Given the description of an element on the screen output the (x, y) to click on. 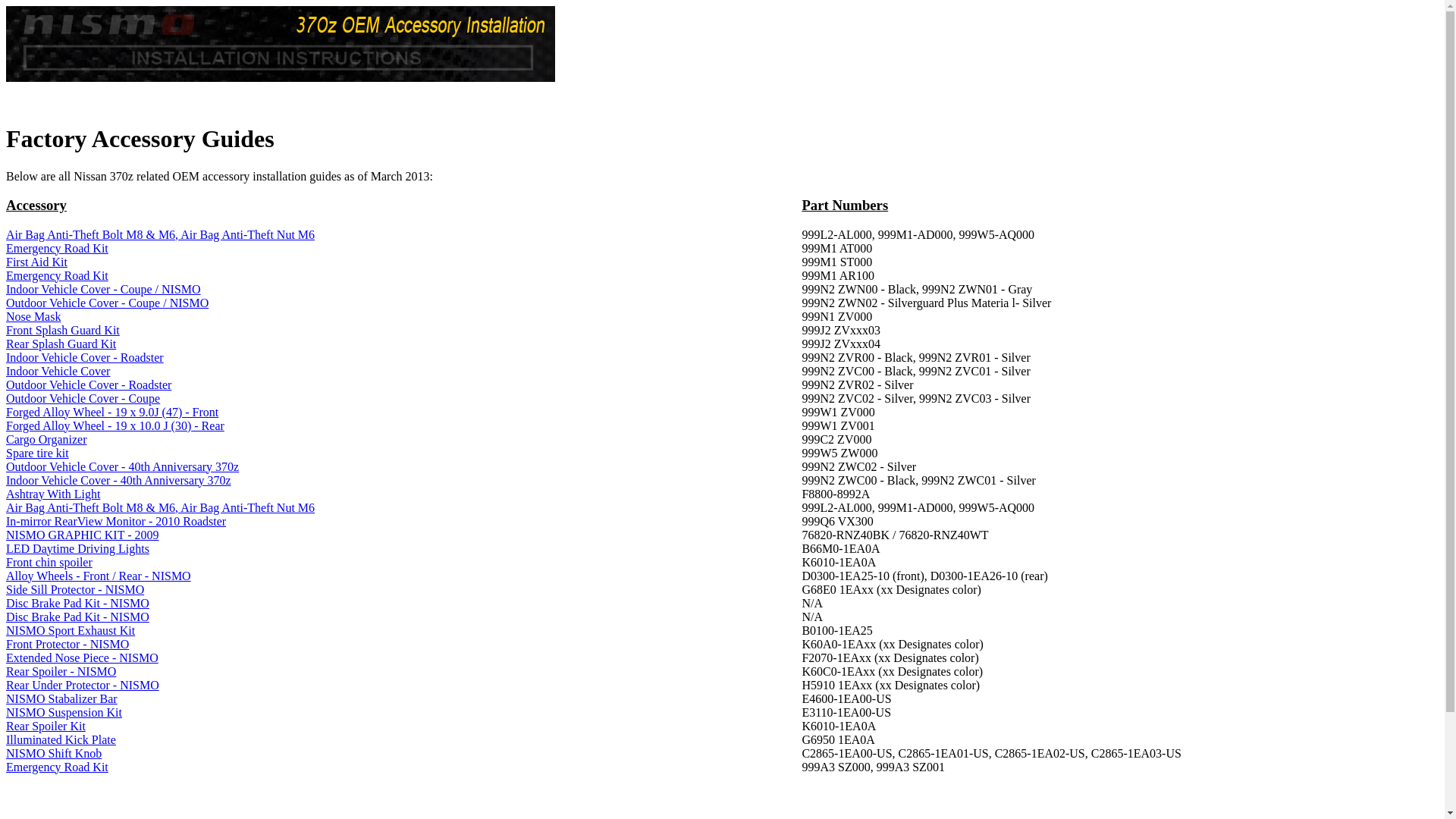
Illuminated Kick Plate Element type: text (61, 739)
Emergency Road Kit Element type: text (57, 275)
Forged Alloy Wheel - 19 x 9.0J (47) - Front Element type: text (112, 411)
Spare tire kit Element type: text (37, 452)
Air Bag Anti-Theft Bolt M8 & M6, Air Bag Anti-Theft Nut M6 Element type: text (160, 234)
Nose Mask Element type: text (33, 316)
Forged Alloy Wheel - 19 x 10.0 J (30) - Rear Element type: text (115, 425)
Front Splash Guard Kit Element type: text (62, 329)
Ashtray With Light Element type: text (53, 493)
NISMO Stabalizer Bar Element type: text (61, 698)
NISMO Suspension Kit Element type: text (64, 712)
NISMO GRAPHIC KIT - 2009 Element type: text (82, 534)
In-mirror RearView Monitor - 2010 Roadster Element type: text (115, 520)
Extended Nose Piece - NISMO Element type: text (82, 657)
Alloy Wheels - Front / Rear - NISMO Element type: text (98, 575)
Cargo Organizer Element type: text (46, 439)
Outdoor Vehicle Cover - Coupe Element type: text (83, 398)
Indoor Vehicle Cover - 40th Anniversary 370z Element type: text (118, 479)
Emergency Road Kit Element type: text (57, 247)
Emergency Road Kit Element type: text (57, 766)
Indoor Vehicle Cover Element type: text (57, 370)
Indoor Vehicle Cover - Coupe / NISMO Element type: text (103, 288)
Side Sill Protector - NISMO Element type: text (75, 589)
Rear Under Protector - NISMO Element type: text (82, 684)
Disc Brake Pad Kit - NISMO Element type: text (77, 616)
Front Protector - NISMO Element type: text (67, 643)
NISMO Sport Exhaust Kit Element type: text (70, 630)
Outdoor Vehicle Cover - Roadster Element type: text (88, 384)
First Aid Kit Element type: text (36, 261)
Outdoor Vehicle Cover - Coupe / NISMO Element type: text (107, 302)
NISMO Shift Knob Element type: text (53, 752)
Outdoor Vehicle Cover - 40th Anniversary 370z Element type: text (122, 466)
Rear Spoiler Kit Element type: text (45, 725)
Indoor Vehicle Cover - Roadster Element type: text (84, 357)
Rear Spoiler - NISMO Element type: text (61, 671)
Front chin spoiler Element type: text (49, 561)
LED Daytime Driving Lights Element type: text (77, 548)
Rear Splash Guard Kit Element type: text (61, 343)
Disc Brake Pad Kit - NISMO Element type: text (77, 602)
Air Bag Anti-Theft Bolt M8 & M6, Air Bag Anti-Theft Nut M6 Element type: text (160, 507)
